Given the description of an element on the screen output the (x, y) to click on. 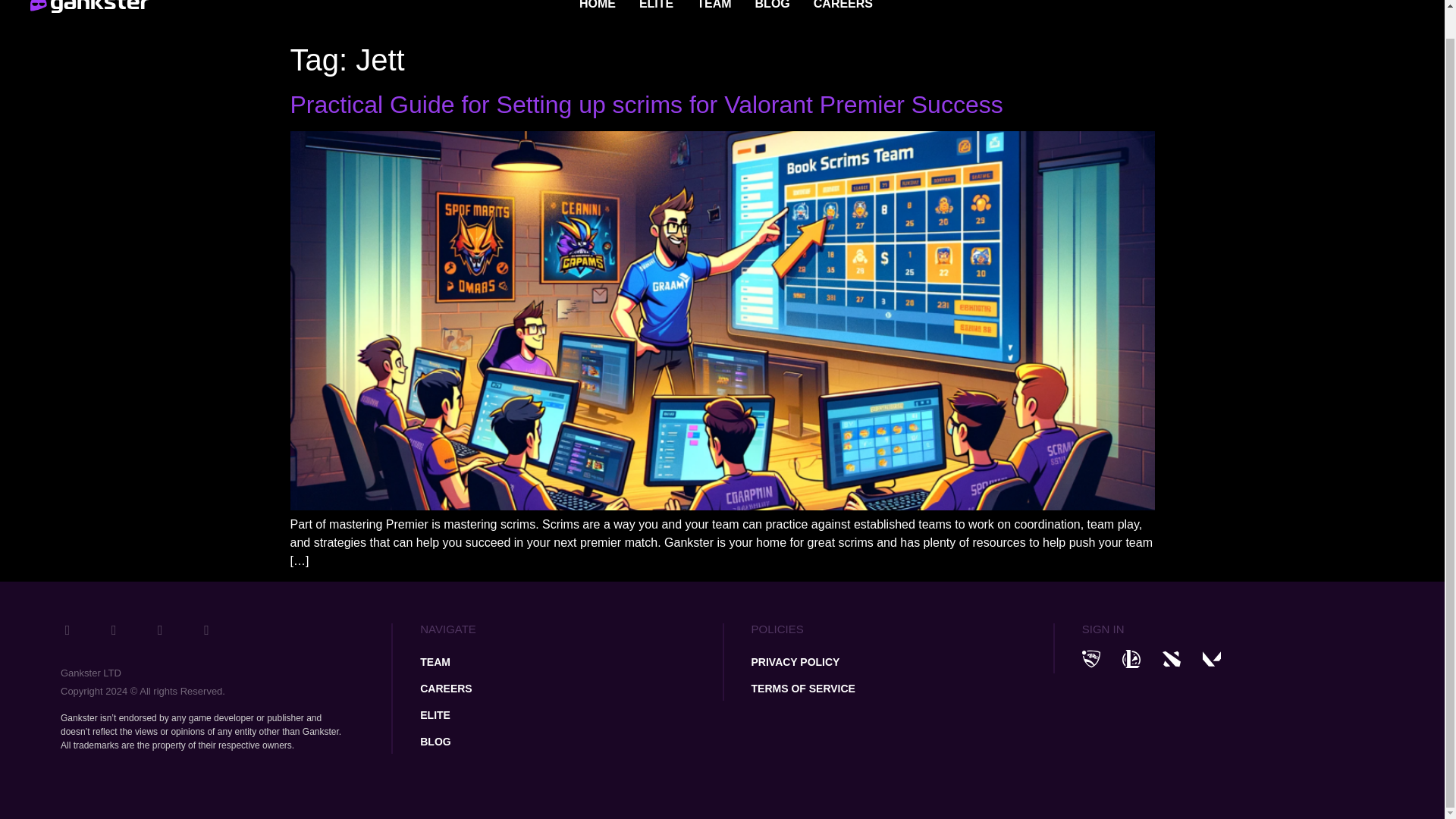
BLOG (772, 6)
HOME (597, 6)
TEAM (571, 662)
CAREERS (571, 688)
CAREERS (843, 6)
TEAM (714, 6)
ELITE (656, 6)
BLOG (571, 741)
ELITE (571, 714)
